Given the description of an element on the screen output the (x, y) to click on. 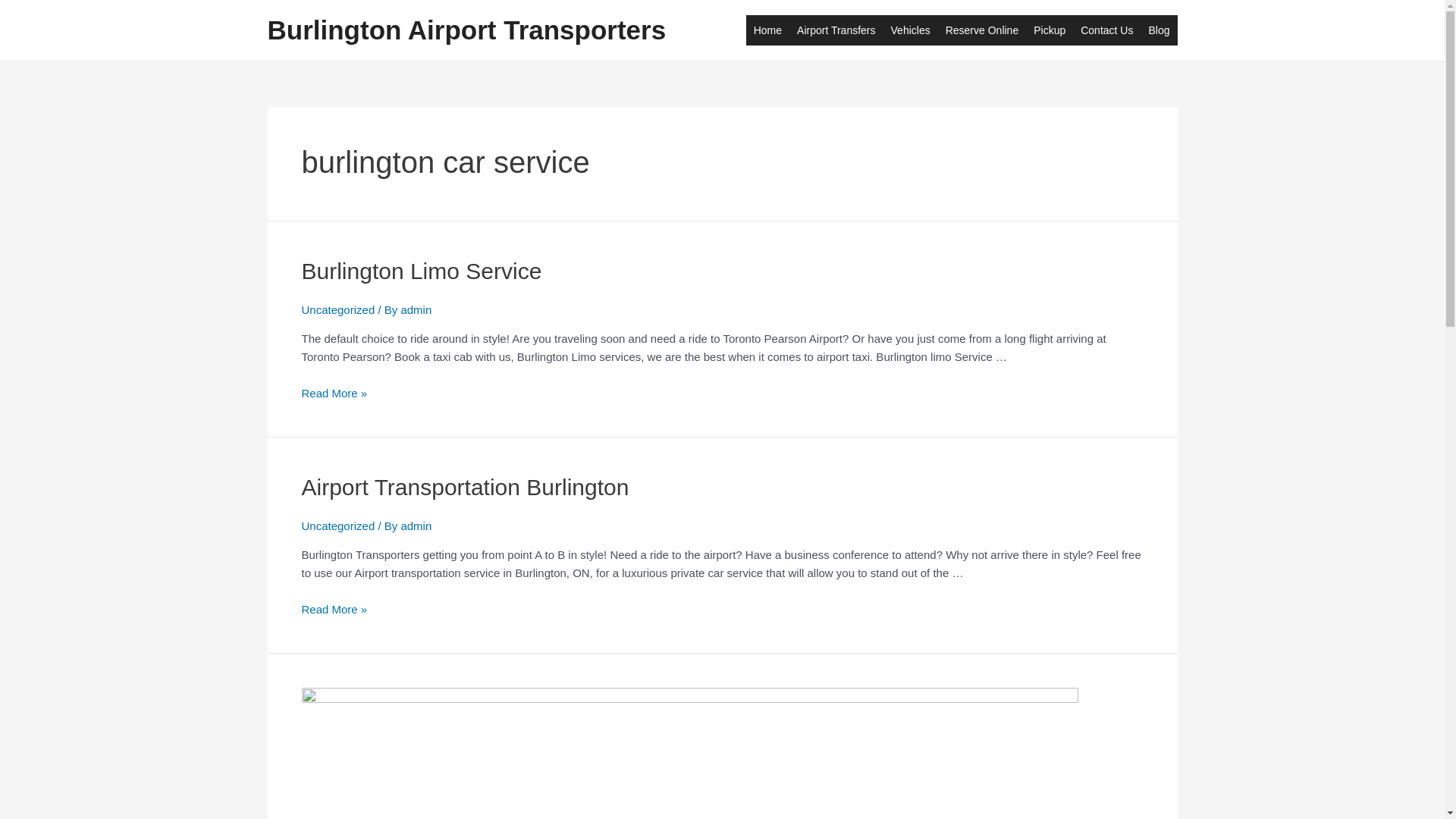
Burlington Limo Service Element type: text (421, 270)
Airport Transportation Burlington Element type: text (465, 486)
Pickup Element type: text (1049, 30)
admin Element type: text (415, 525)
Uncategorized Element type: text (338, 309)
admin Element type: text (415, 309)
Uncategorized Element type: text (338, 525)
Airport Transfers Element type: text (835, 30)
Vehicles Element type: text (910, 30)
Home Element type: text (767, 30)
Reserve Online Element type: text (982, 30)
Contact Us Element type: text (1106, 30)
Blog Element type: text (1158, 30)
Burlington Airport Transporters Element type: text (465, 29)
